Given the description of an element on the screen output the (x, y) to click on. 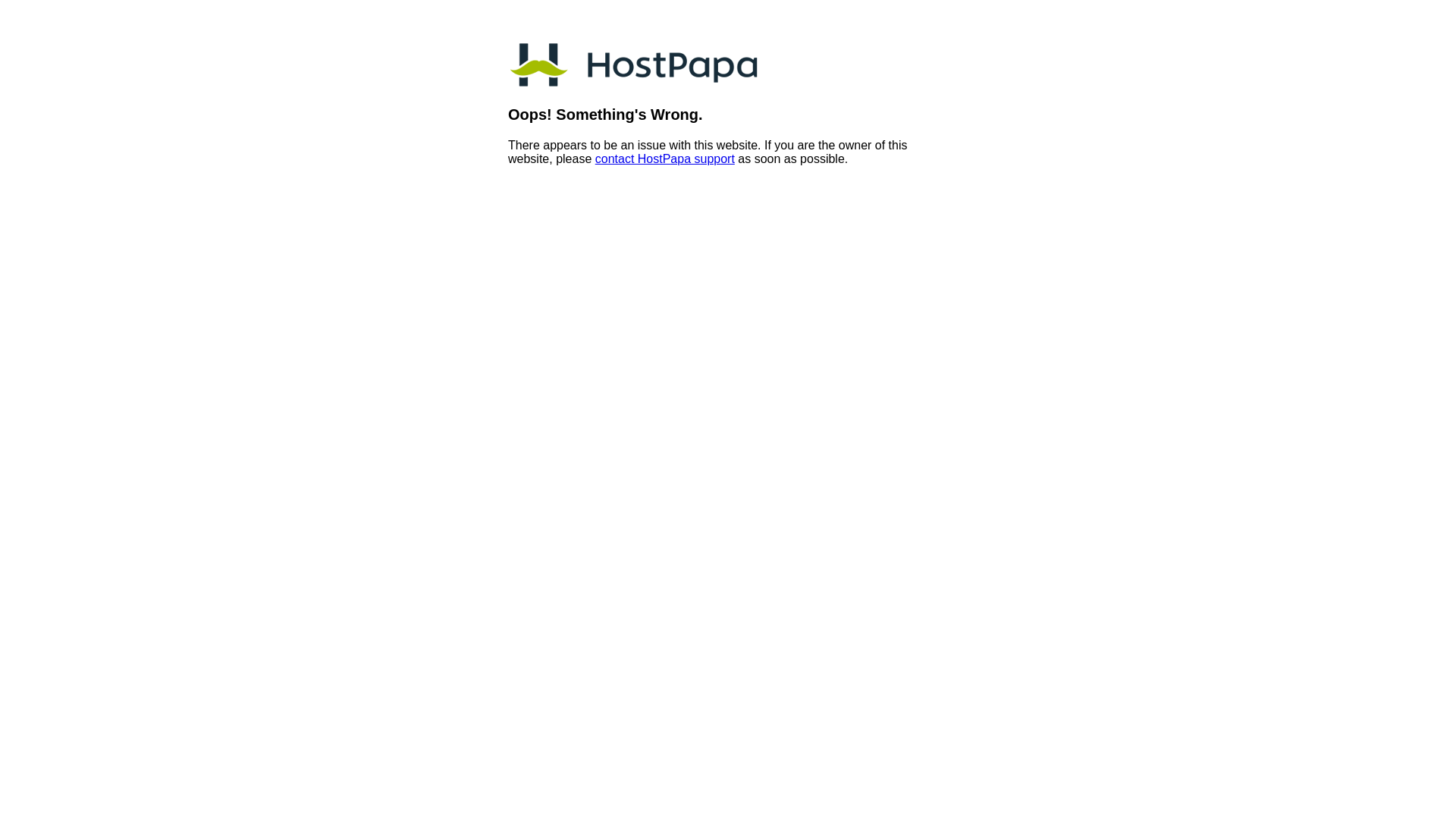
contact HostPapa support Element type: text (664, 158)
